Given the description of an element on the screen output the (x, y) to click on. 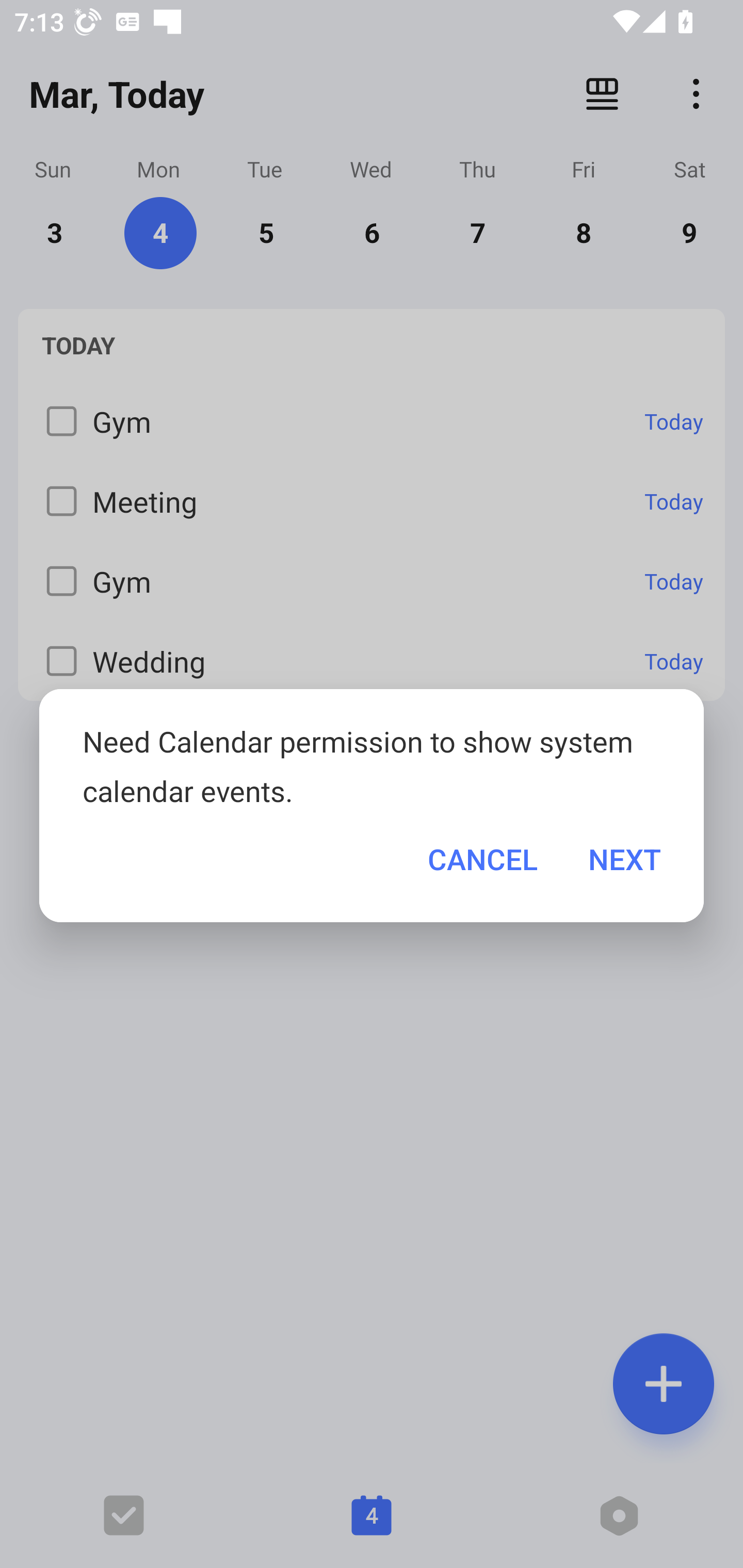
CANCEL (482, 858)
NEXT (624, 858)
